Given the description of an element on the screen output the (x, y) to click on. 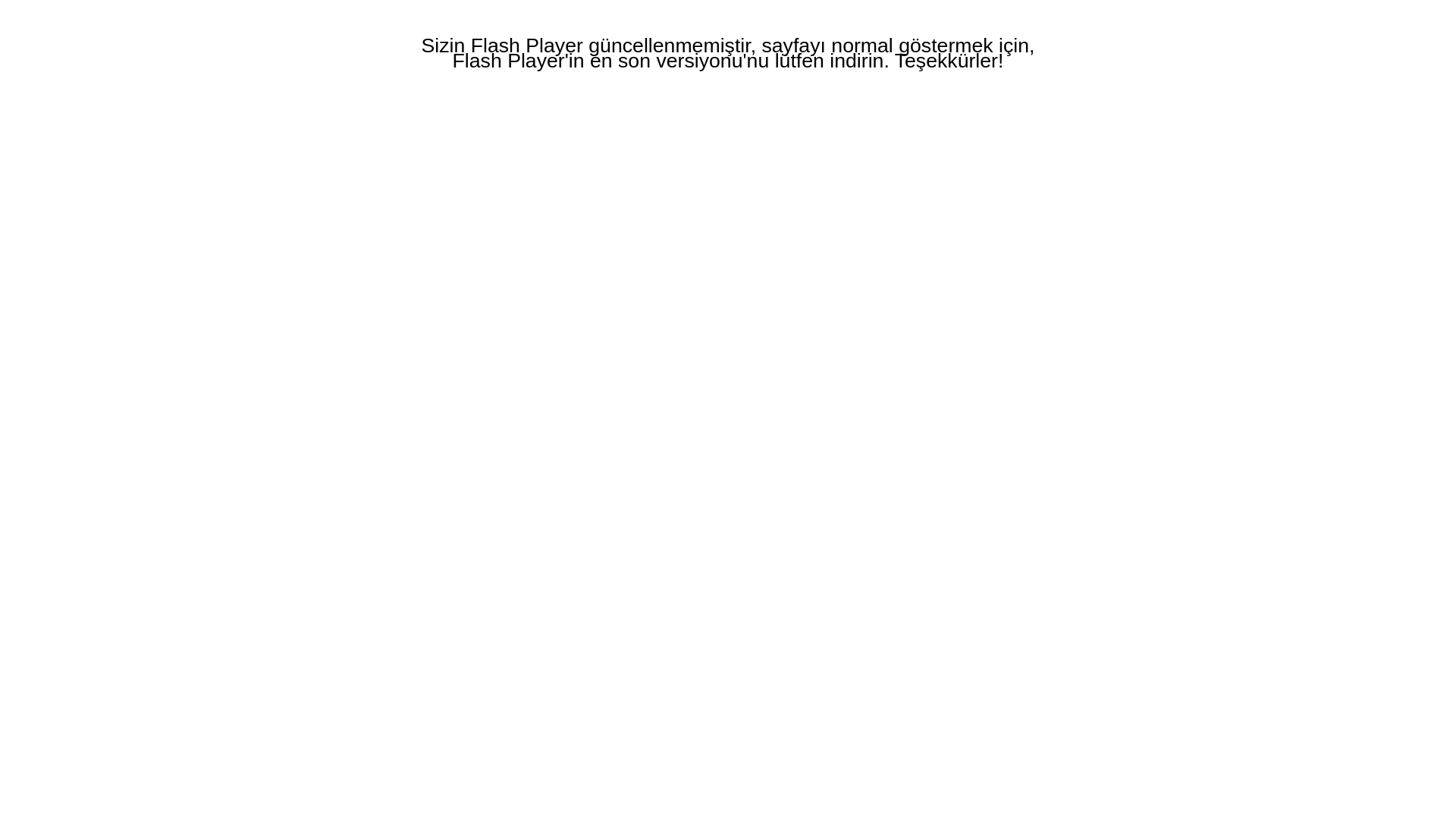
Flash Player'in en son versiyonu Element type: text (597, 60)
Flash Player Element type: text (526, 45)
